Given the description of an element on the screen output the (x, y) to click on. 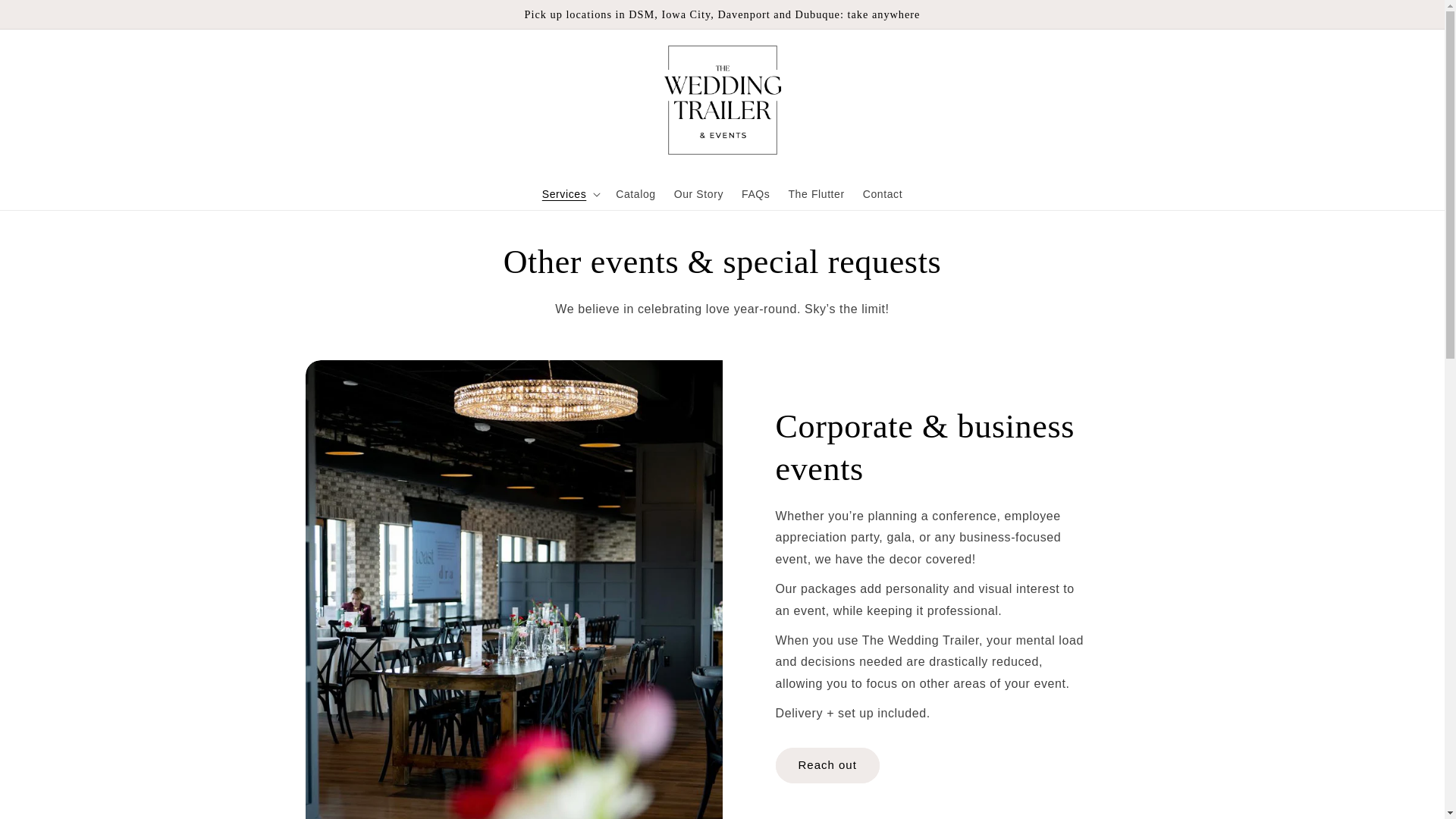
Reach out (826, 764)
Contact (882, 193)
Our Story (698, 193)
The Flutter (815, 193)
Skip to content (45, 17)
FAQs (755, 193)
Catalog (635, 193)
